Given the description of an element on the screen output the (x, y) to click on. 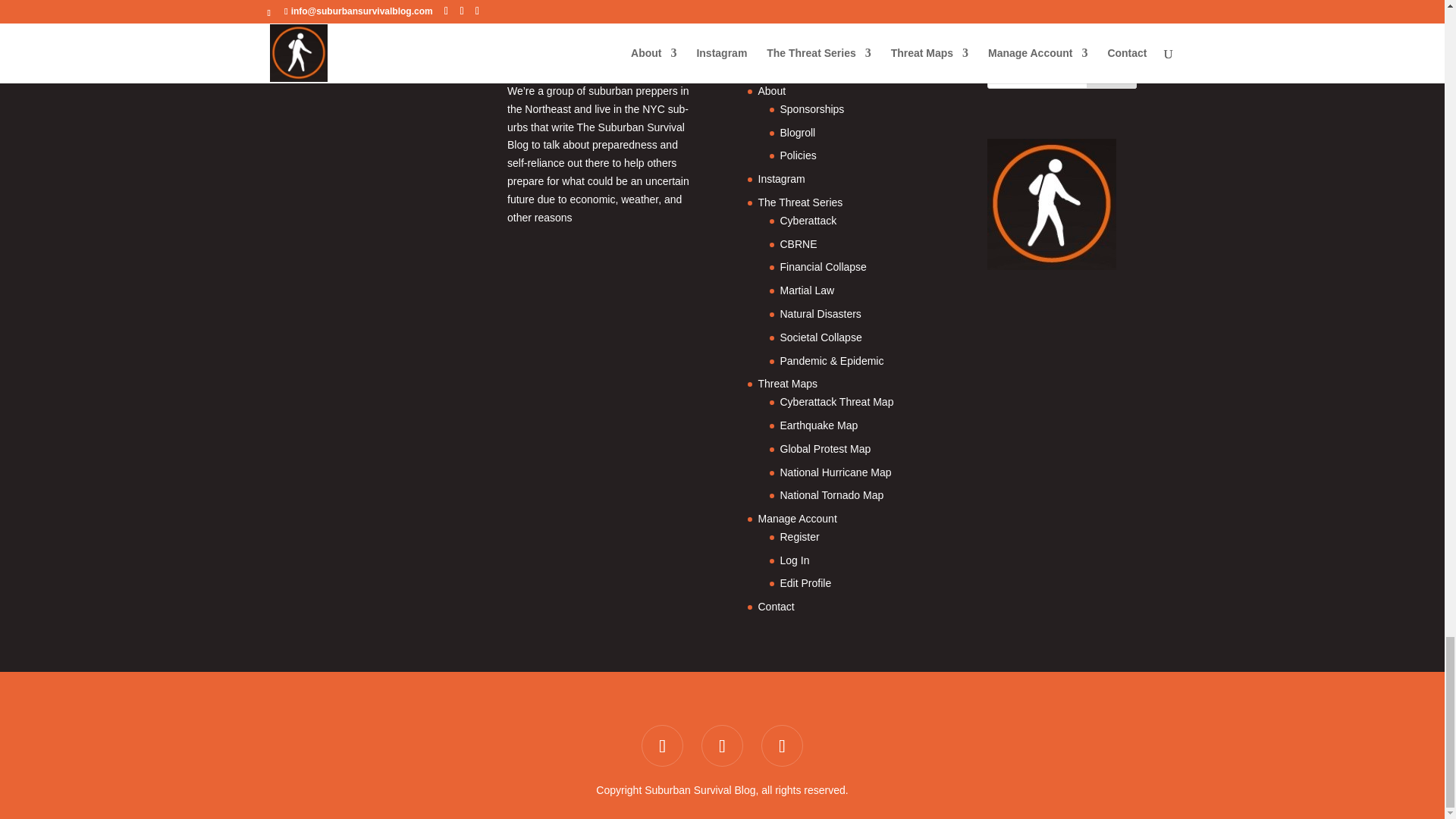
Search (1111, 73)
